Given the description of an element on the screen output the (x, y) to click on. 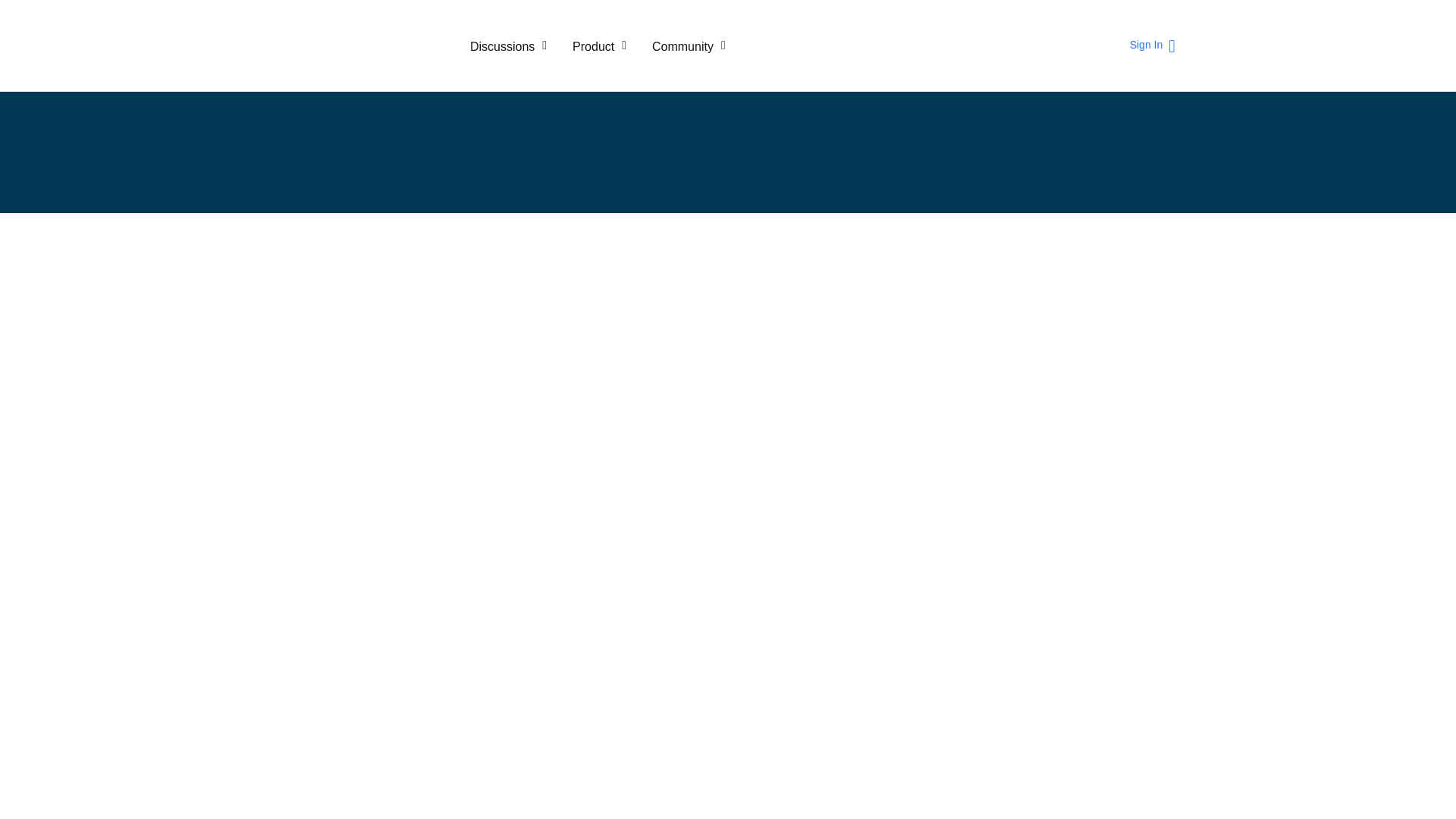
Discussions (507, 45)
Product (598, 45)
ServiceTitan Community (363, 45)
